Given the description of an element on the screen output the (x, y) to click on. 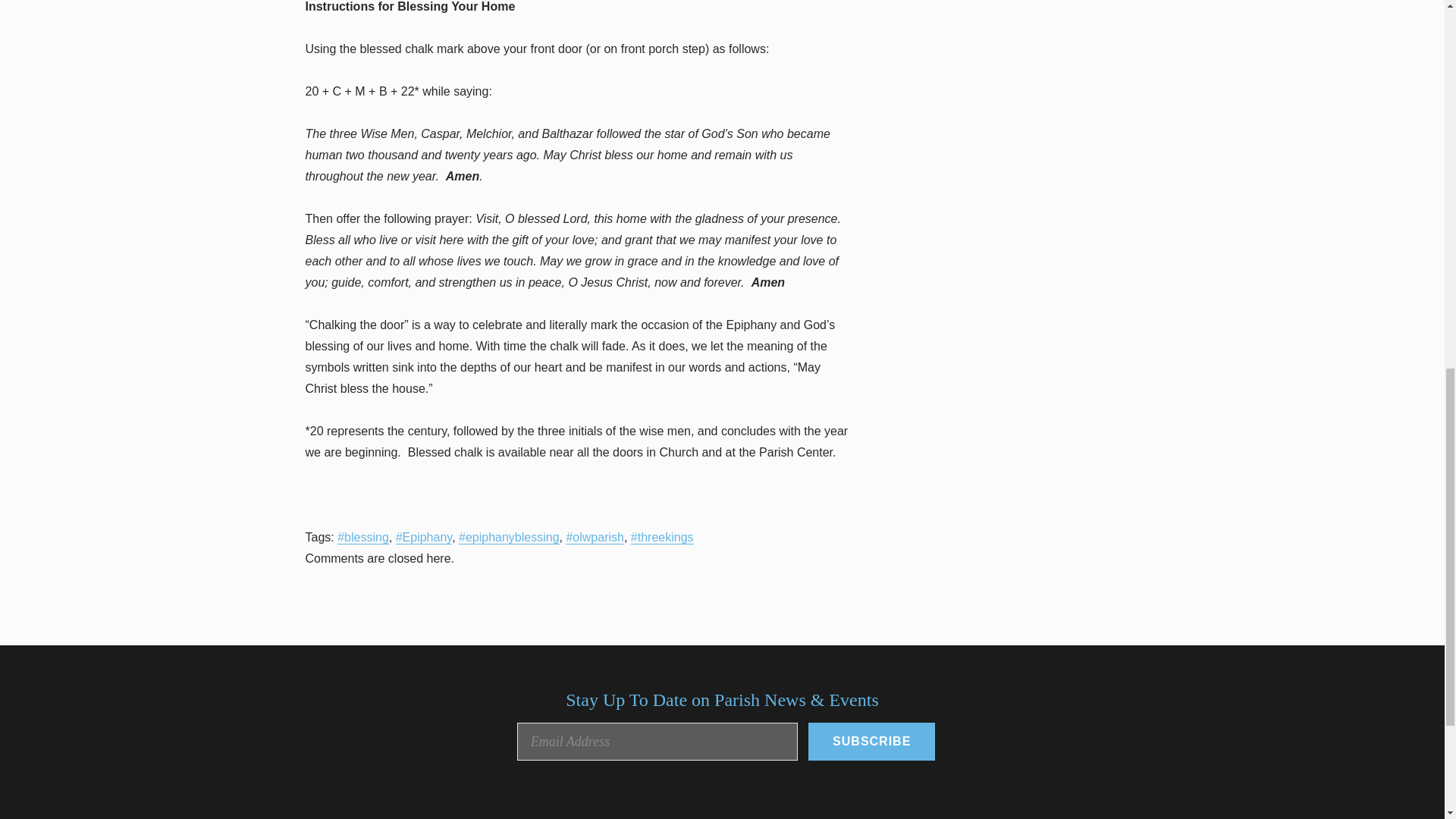
Subscribe (871, 741)
